Given the description of an element on the screen output the (x, y) to click on. 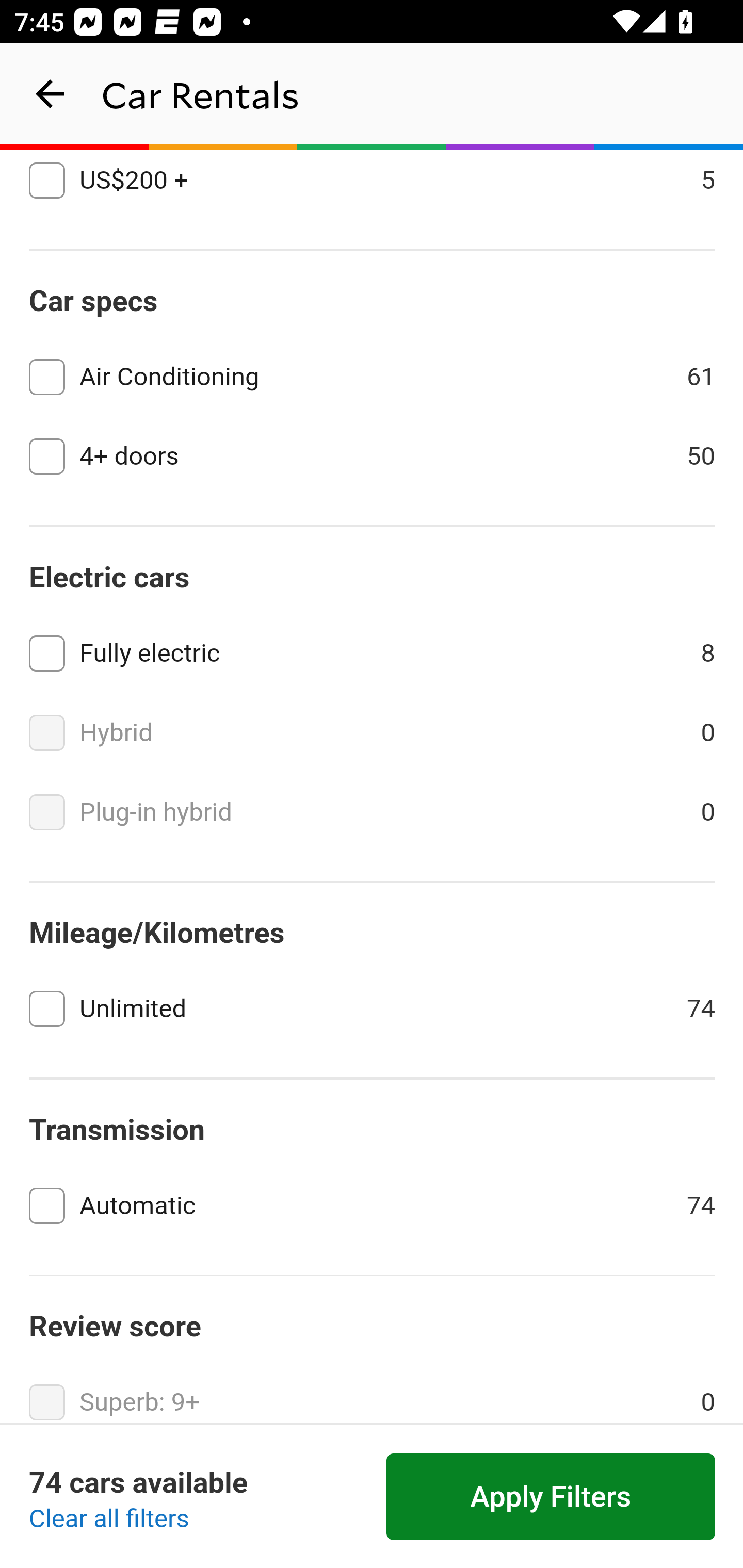
navigation_button (50, 93)
Apply Filters (551, 1497)
Clear all filters (108, 1519)
